Given the description of an element on the screen output the (x, y) to click on. 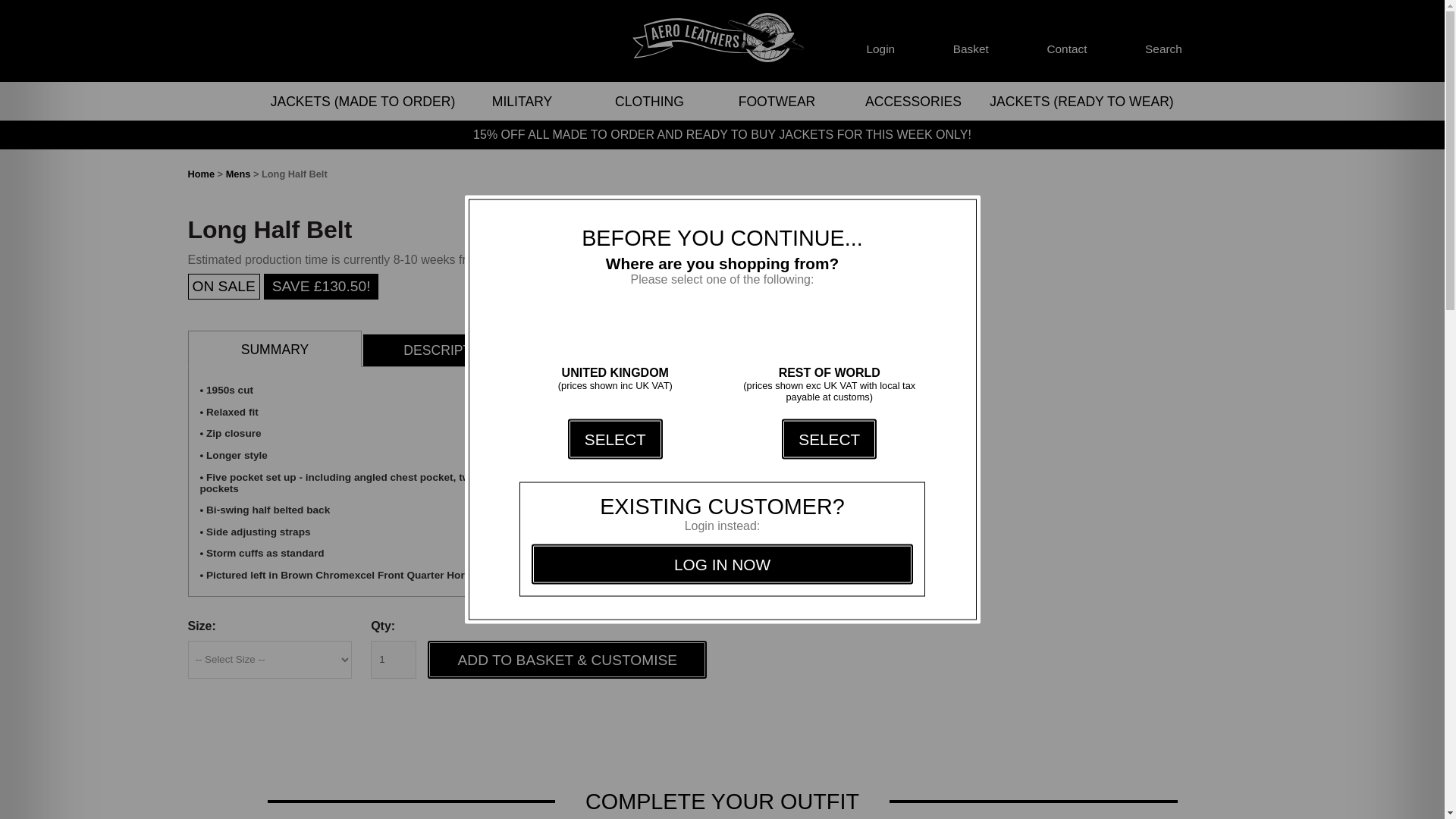
1 (393, 659)
ACCESSORIES (912, 101)
MILITARY (521, 101)
Military (521, 101)
Customer reviews powered by Trustpilot (405, 40)
Login (880, 40)
FOOTWEAR (776, 101)
Contact (1066, 40)
CLOTHING (649, 101)
Aero Leather Clothing (721, 40)
